Given the description of an element on the screen output the (x, y) to click on. 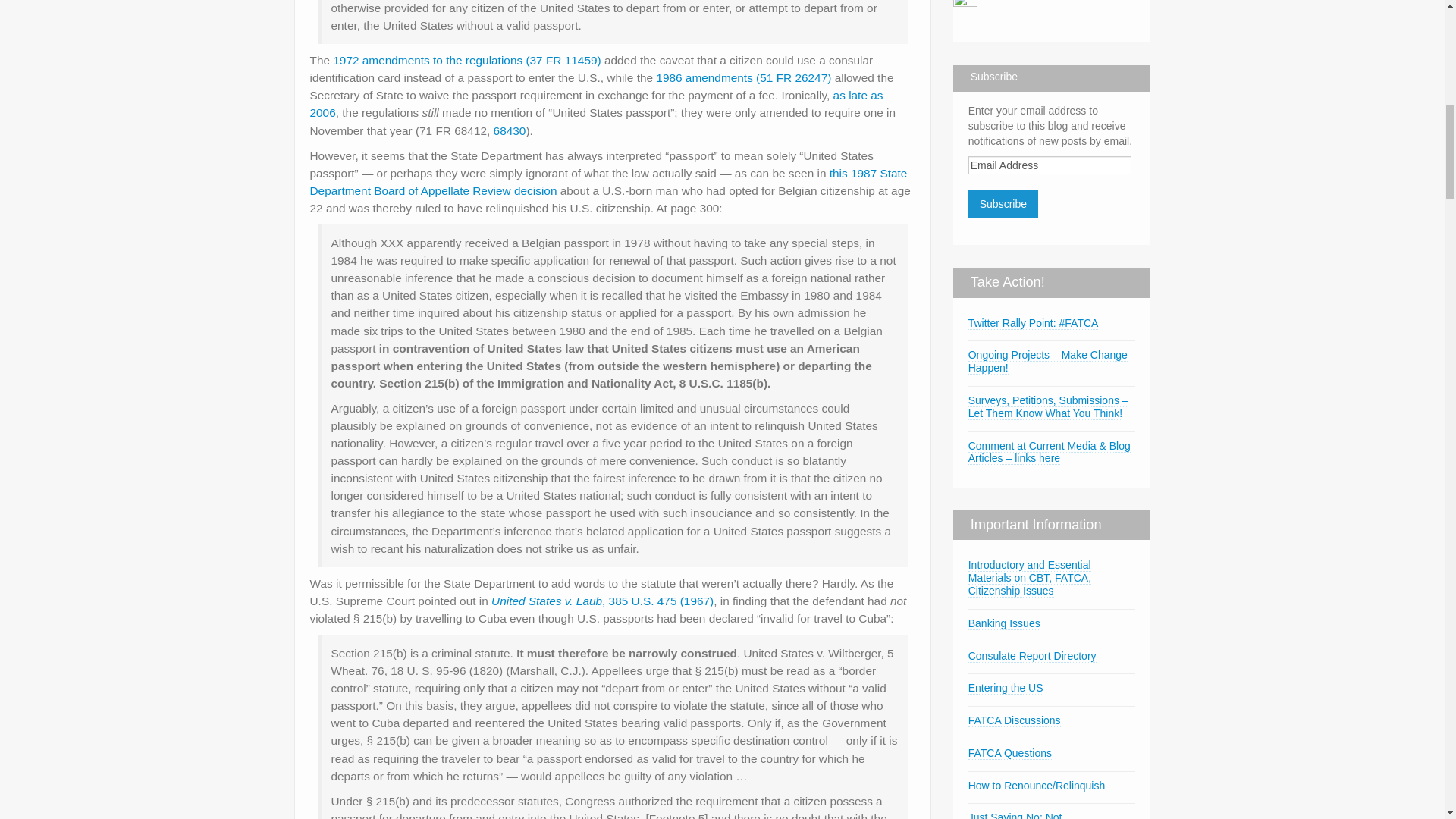
68430 (509, 130)
Email Address (1050, 165)
Subscribe (1003, 203)
as late as 2006 (595, 103)
